Given the description of an element on the screen output the (x, y) to click on. 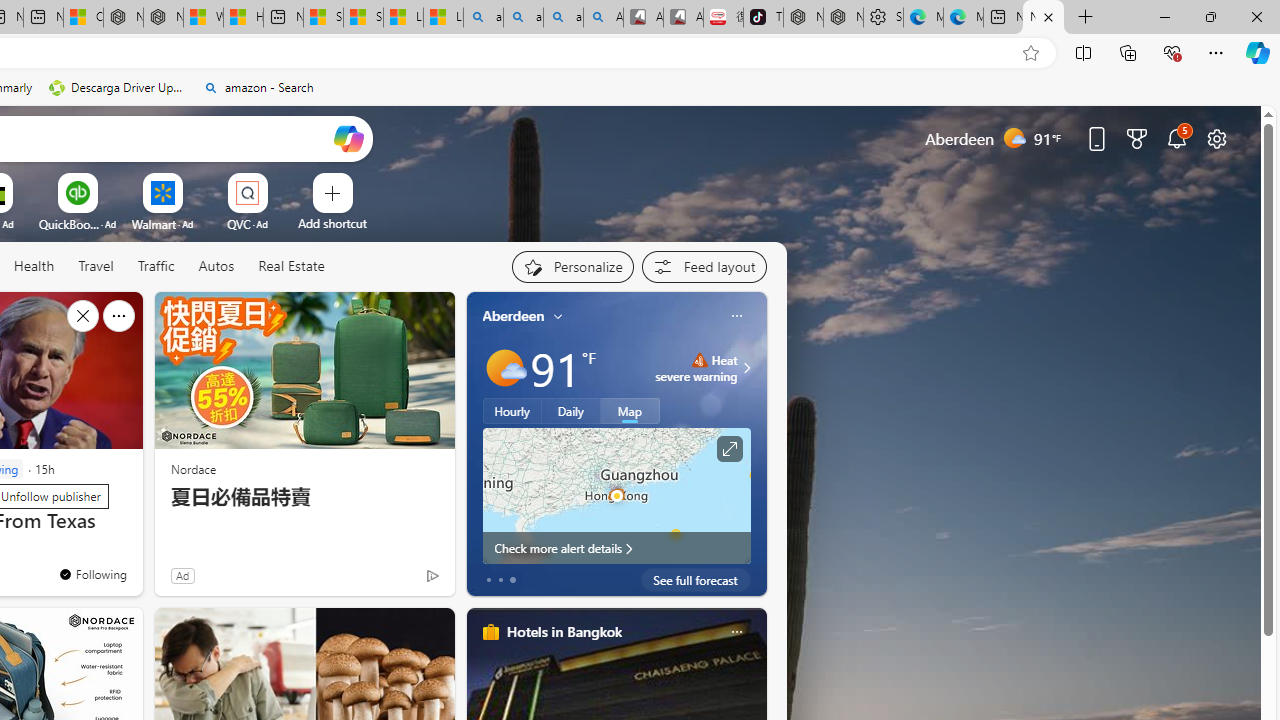
Hourly (511, 411)
Feed settings (703, 266)
Heat - Severe Heat severe warning (696, 367)
Personalize your feed" (571, 266)
Mostly sunny (504, 368)
Descarga Driver Updater (118, 88)
